Given the description of an element on the screen output the (x, y) to click on. 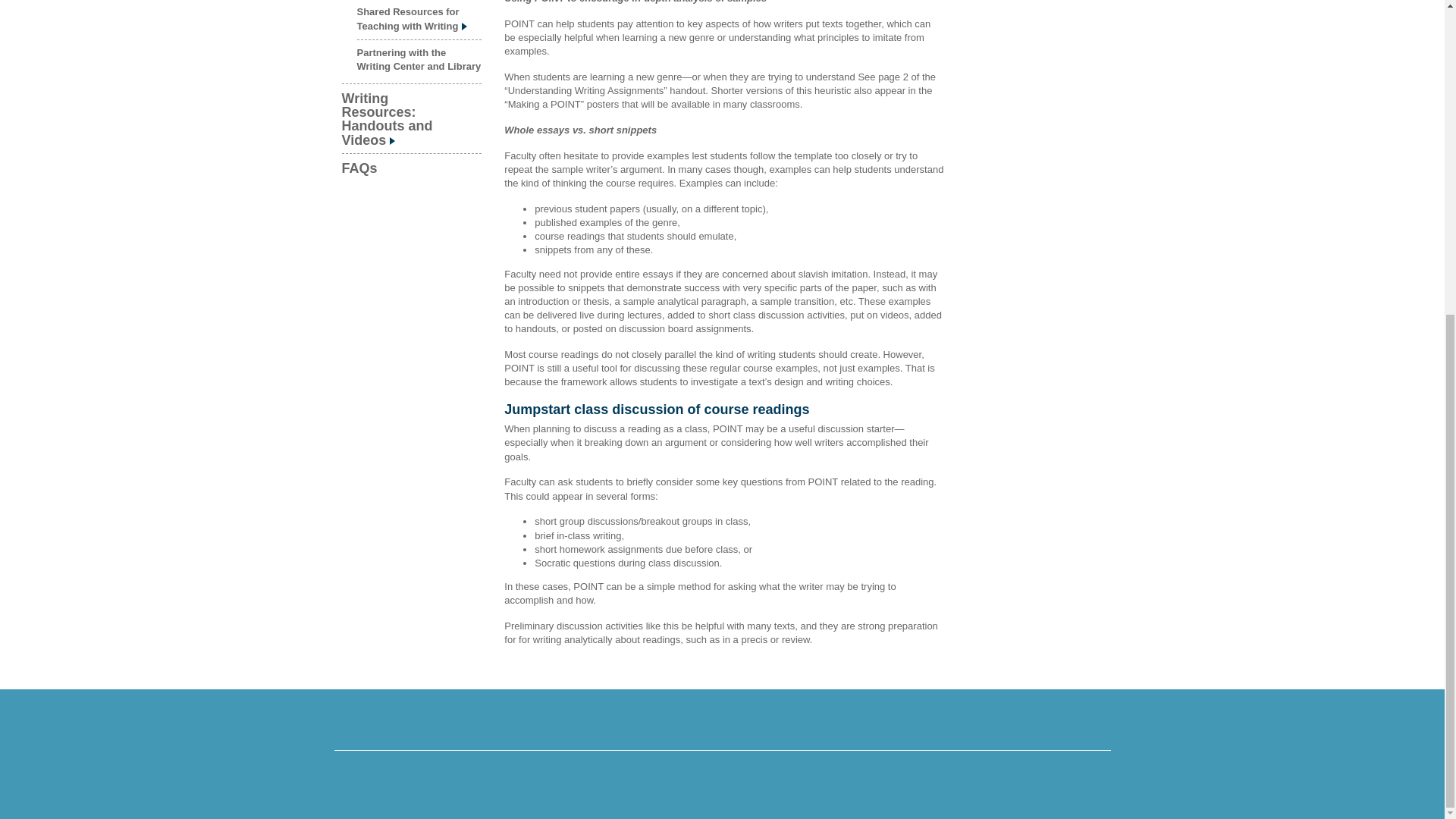
Partnering with the Writing Center and Library (418, 59)
Shared Resources for Teaching with Writing (418, 19)
Writing Resources: Handouts and Videos (410, 118)
FAQs (410, 166)
